Given the description of an element on the screen output the (x, y) to click on. 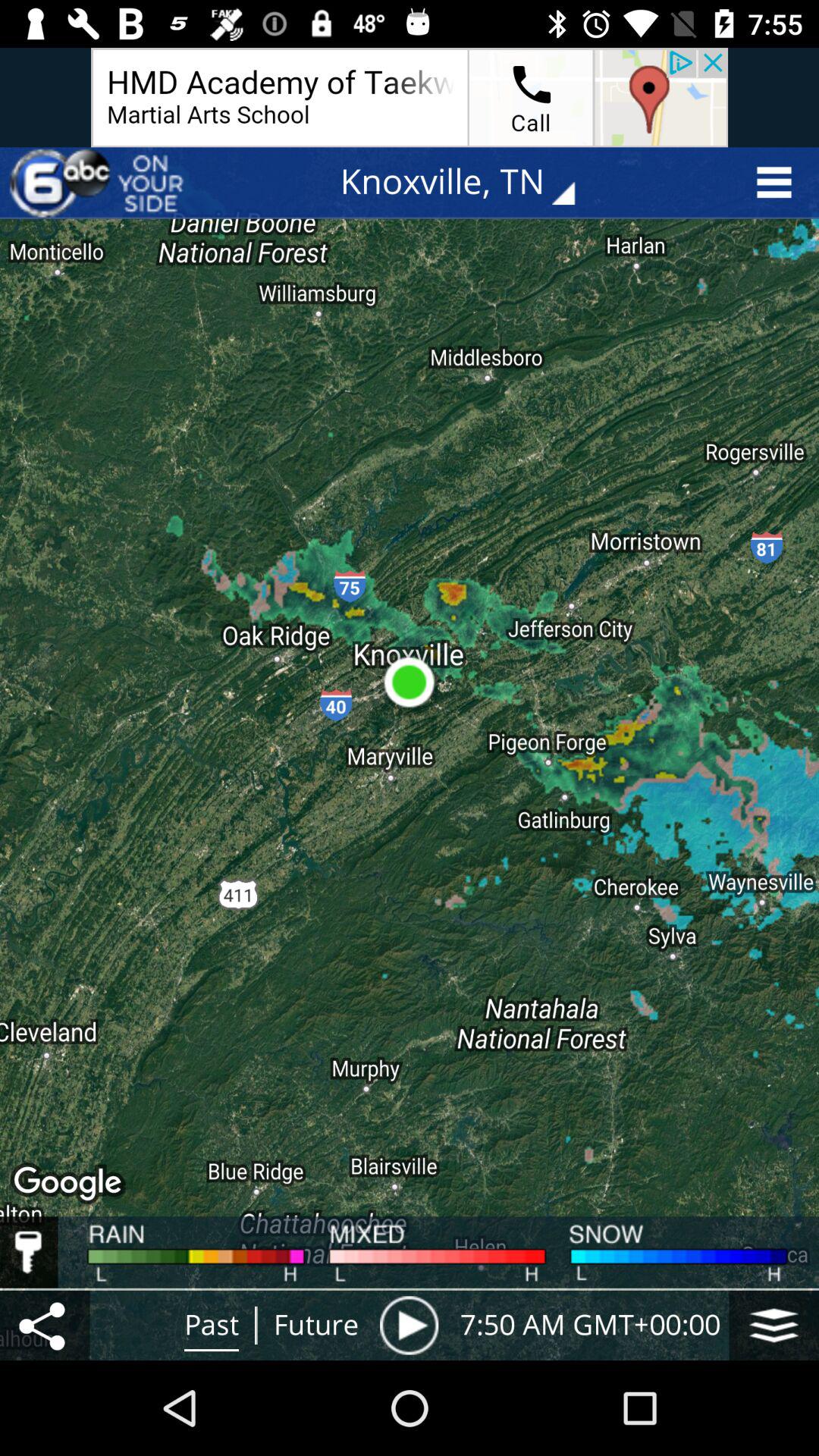
tap icon to the right of 7 50 am (774, 1325)
